Given the description of an element on the screen output the (x, y) to click on. 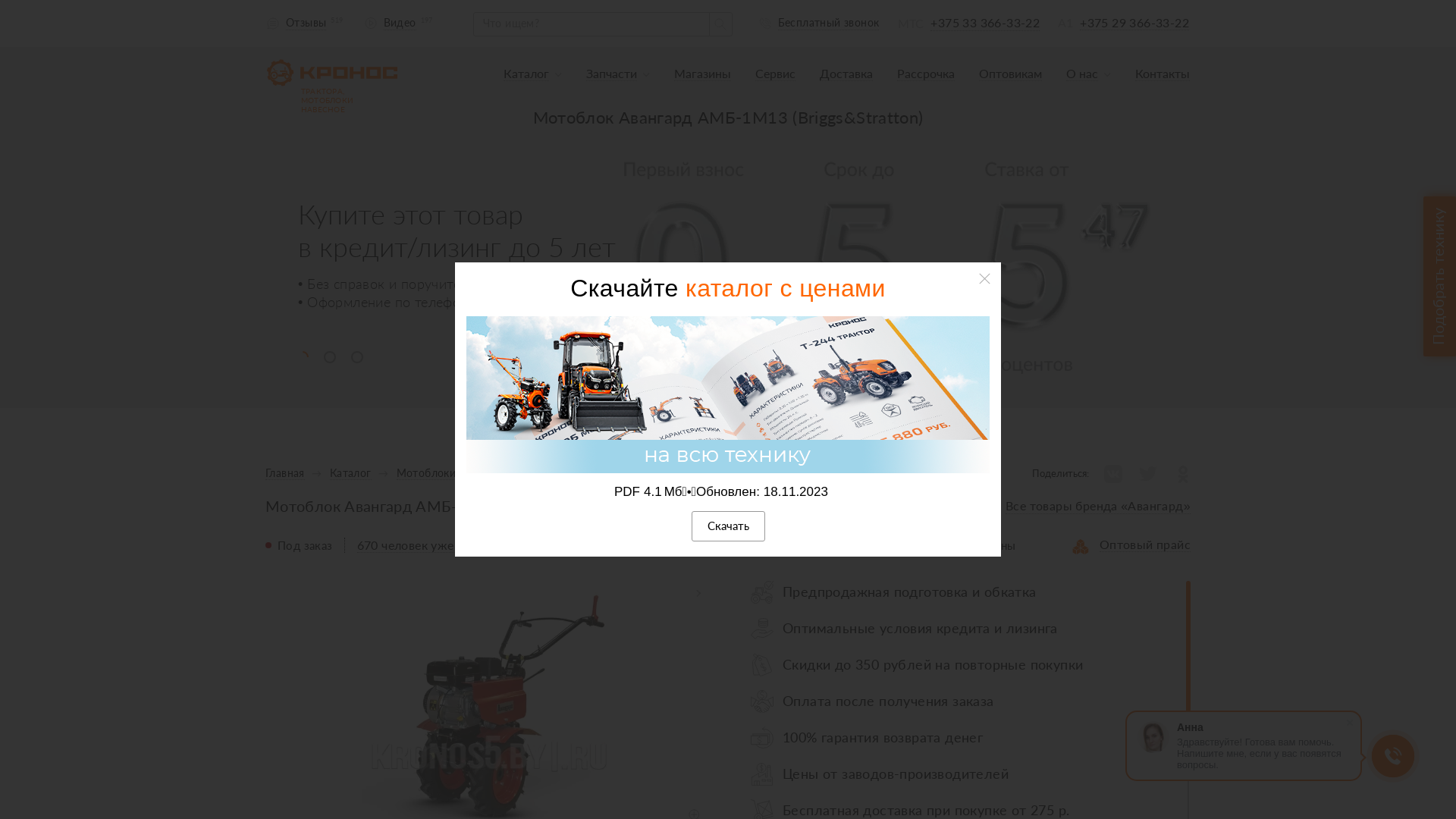
Twitter Element type: hover (1147, 472)
